Given the description of an element on the screen output the (x, y) to click on. 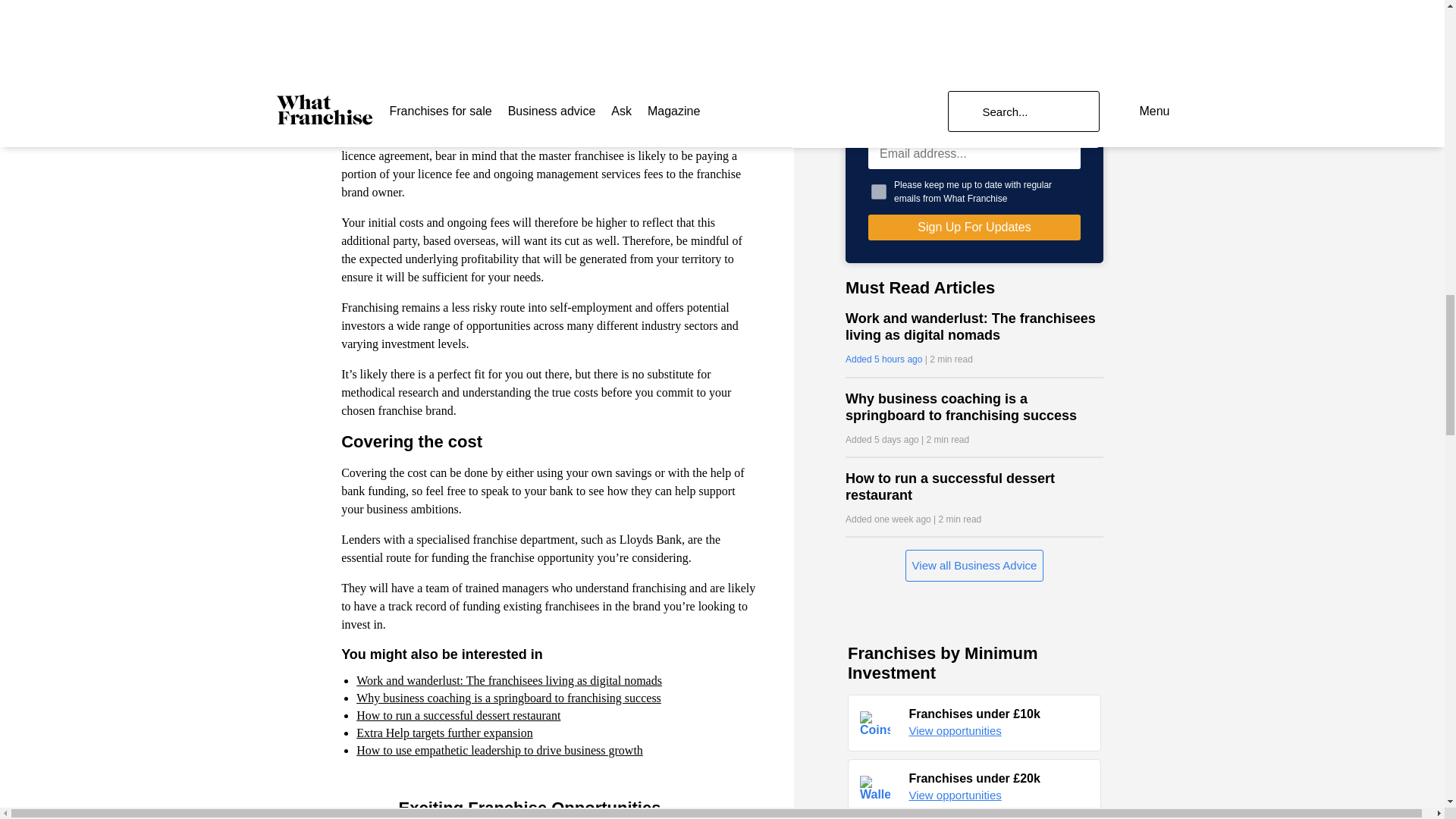
Sign Up For Updates (973, 227)
